Given the description of an element on the screen output the (x, y) to click on. 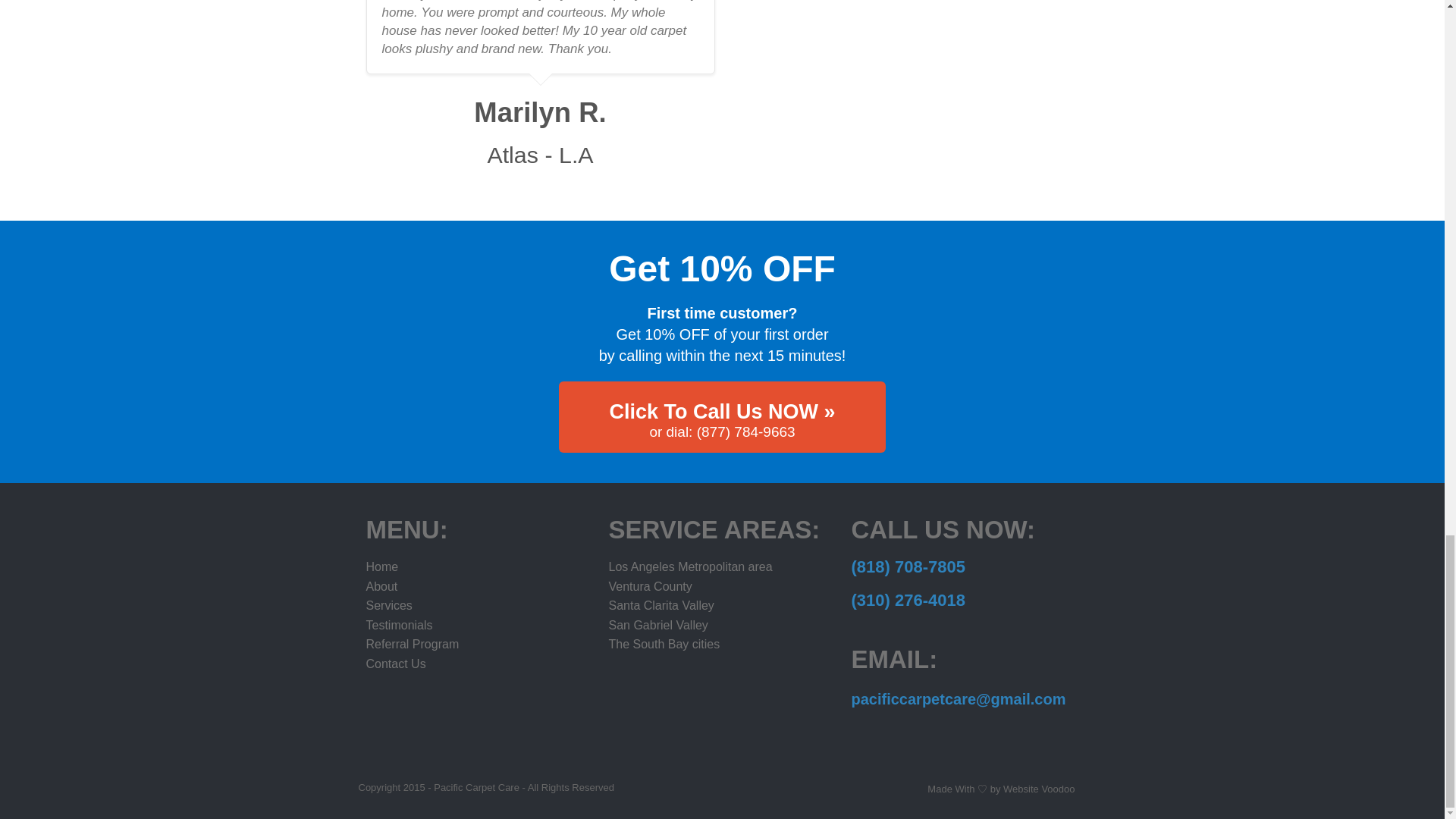
About (381, 585)
Contact Us (395, 663)
Testimonials (398, 625)
Referral Program (411, 644)
Services (388, 604)
Home (381, 566)
